Given the description of an element on the screen output the (x, y) to click on. 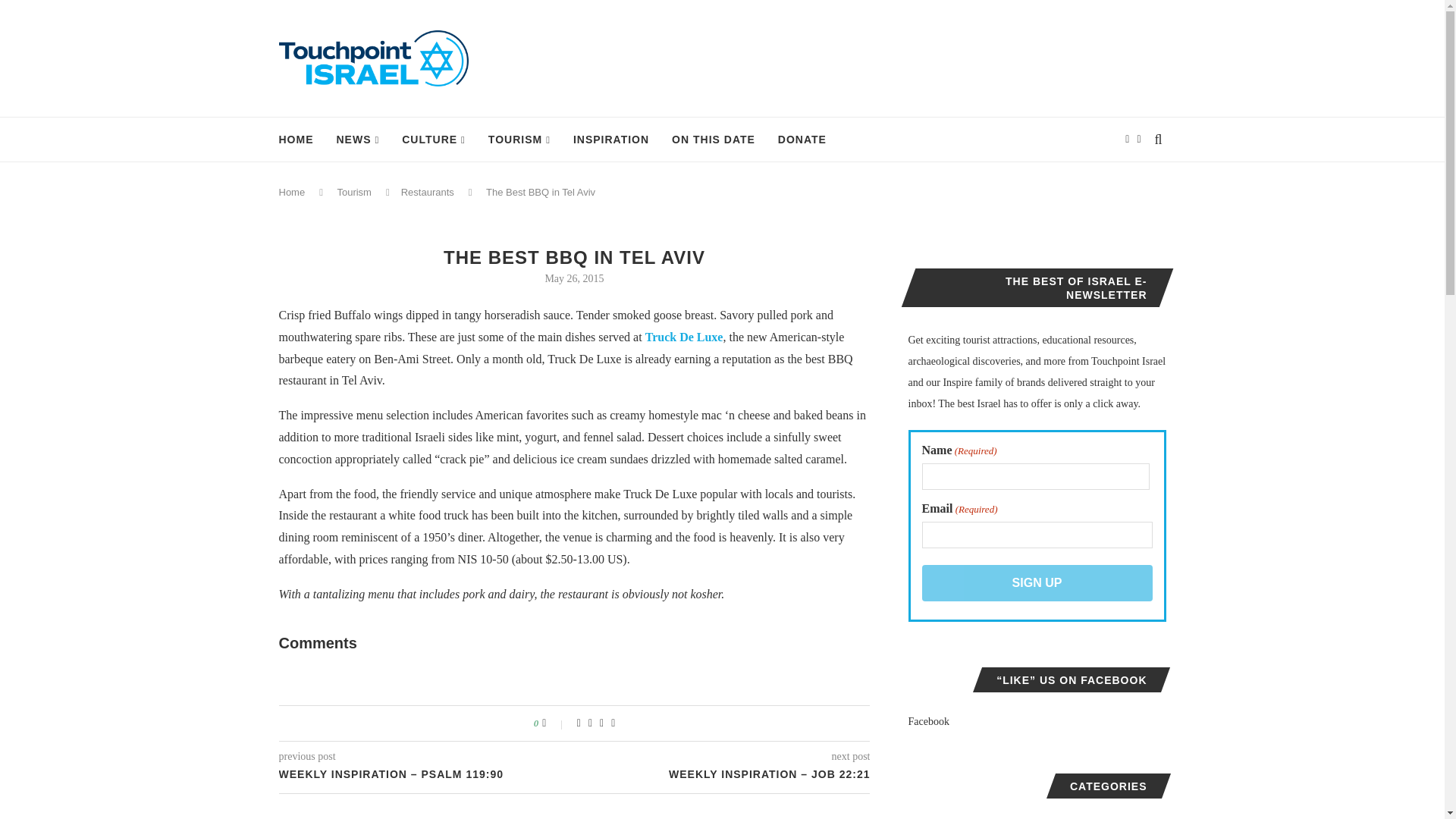
CULTURE (433, 139)
Like (553, 723)
NEWS (358, 139)
SIGN UP (1037, 583)
TOURISM (518, 139)
